Given the description of an element on the screen output the (x, y) to click on. 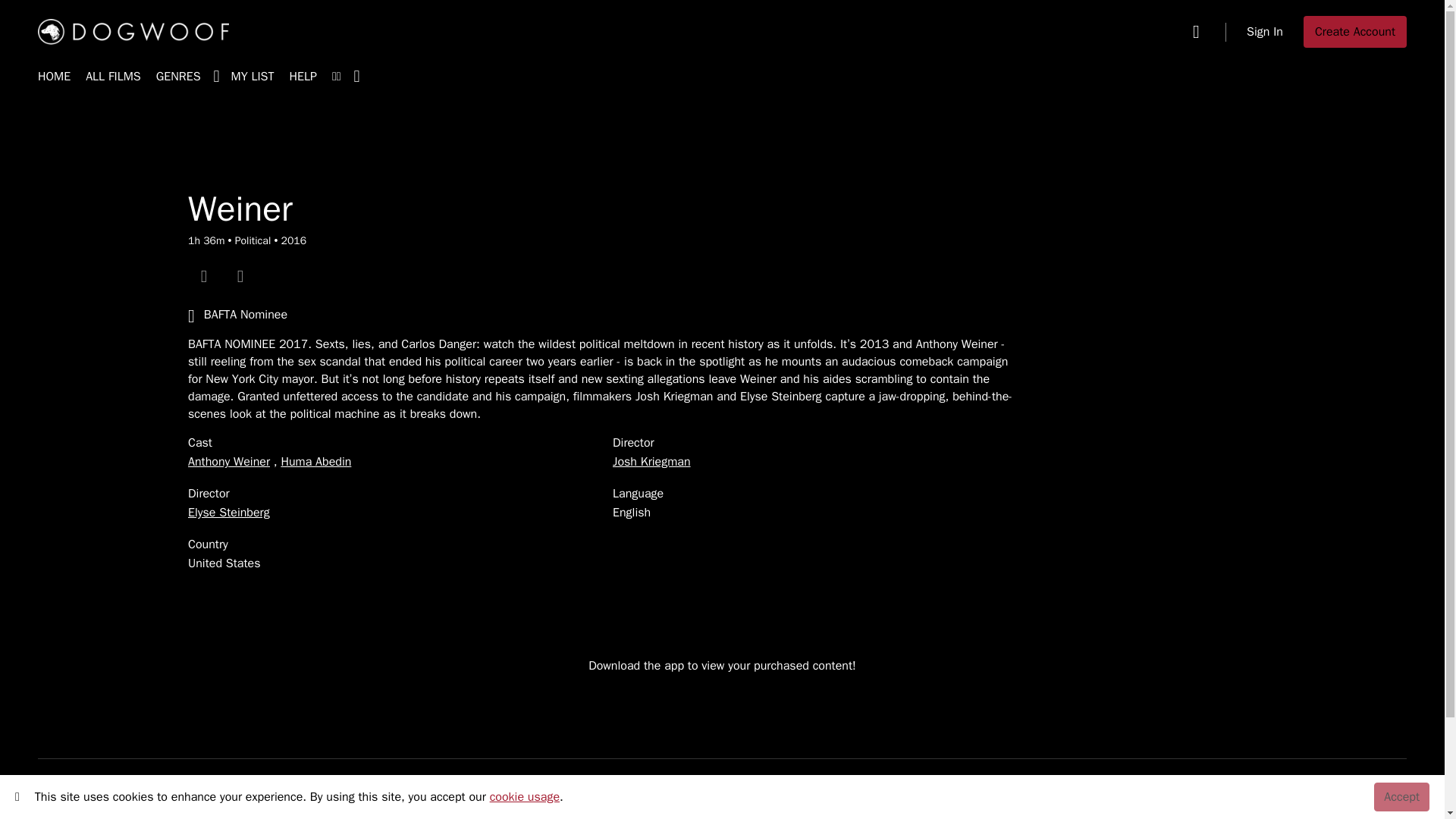
cookie usage (524, 796)
Sign In (1264, 31)
MY LIST (253, 77)
GENRES (193, 77)
HOME (53, 77)
Accept (1401, 796)
Create Account (1354, 31)
ALL FILMS (113, 77)
